Given the description of an element on the screen output the (x, y) to click on. 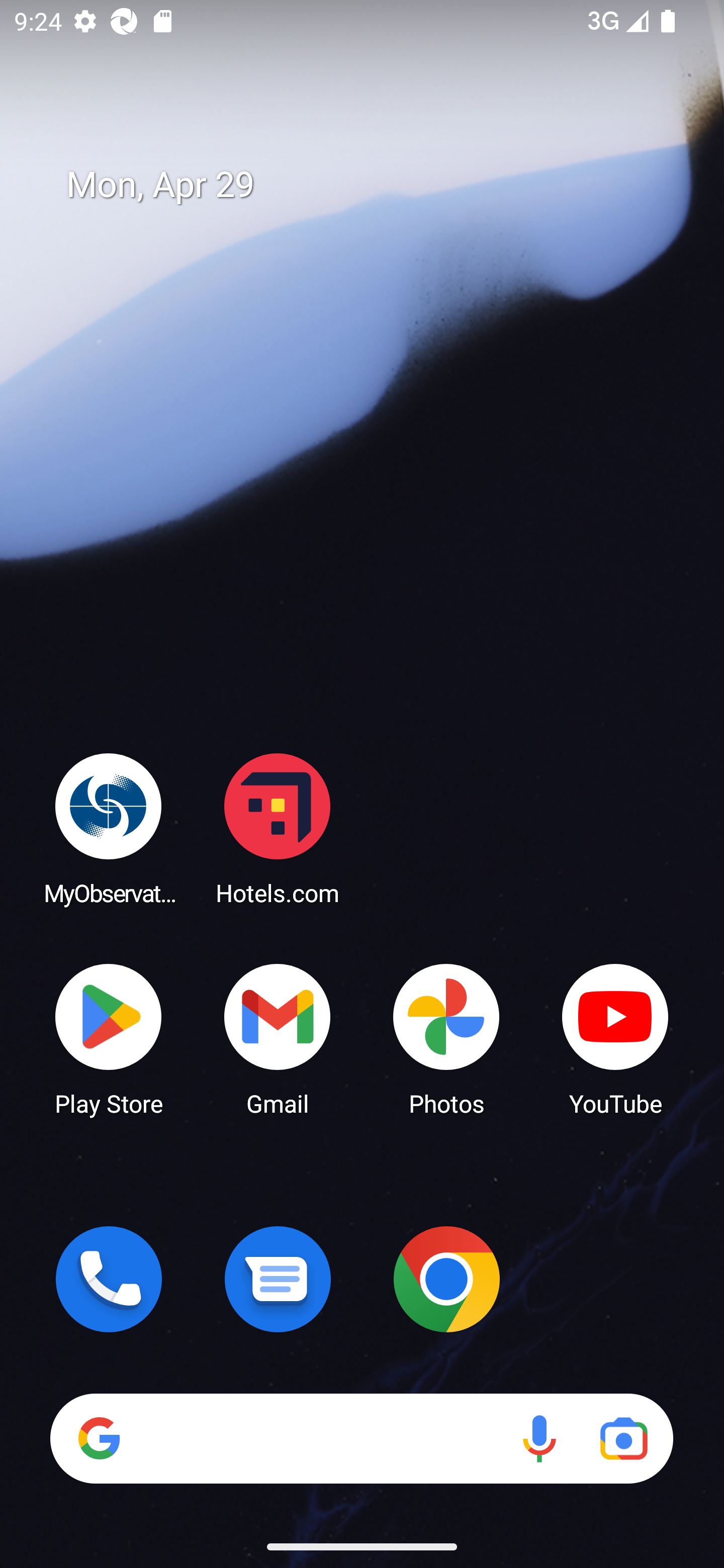
Mon, Apr 29 (375, 184)
MyObservatory (108, 828)
Hotels.com (277, 828)
Play Store (108, 1038)
Gmail (277, 1038)
Photos (445, 1038)
YouTube (615, 1038)
Phone (108, 1279)
Messages (277, 1279)
Chrome (446, 1279)
Search Voice search Google Lens (361, 1438)
Voice search (539, 1438)
Google Lens (623, 1438)
